Given the description of an element on the screen output the (x, y) to click on. 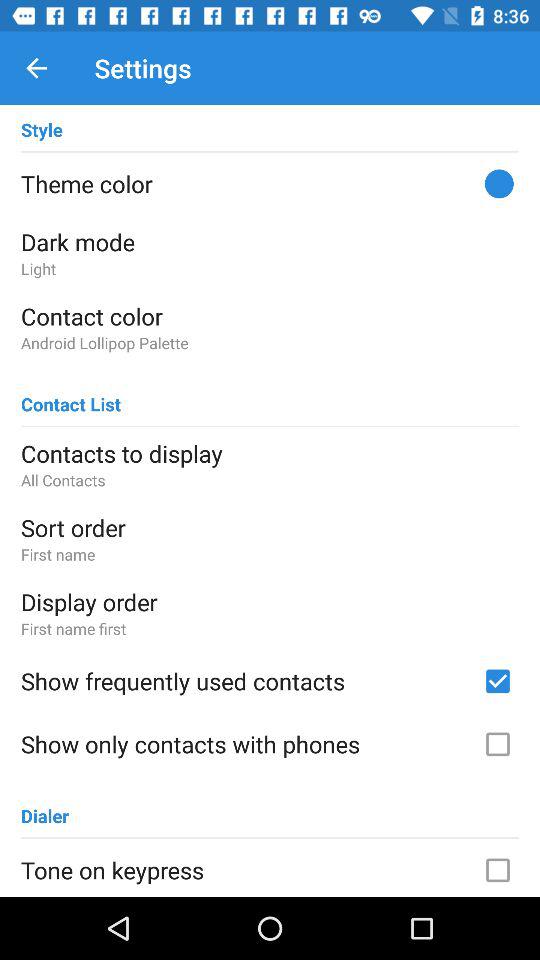
press icon below the first name first item (245, 681)
